Given the description of an element on the screen output the (x, y) to click on. 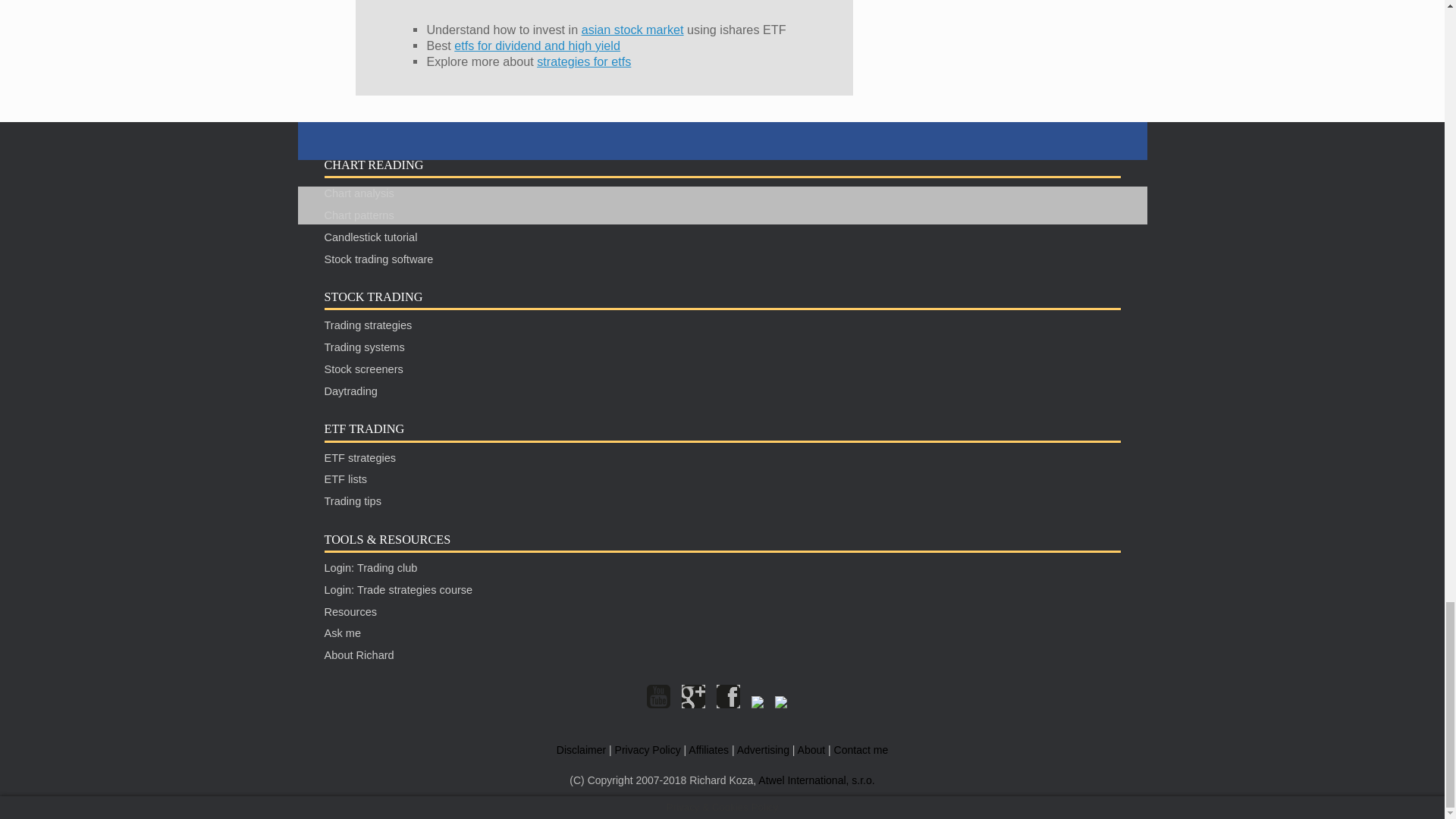
Privacy Policy (647, 749)
Chart analysis (359, 193)
Stock screeners (363, 369)
Trading systems (364, 346)
Trading tips (352, 500)
ETF lists (346, 479)
strategies for etfs (583, 60)
Login: Trade strategies course (398, 589)
Disclaimer (580, 749)
asian stock market (632, 29)
